Given the description of an element on the screen output the (x, y) to click on. 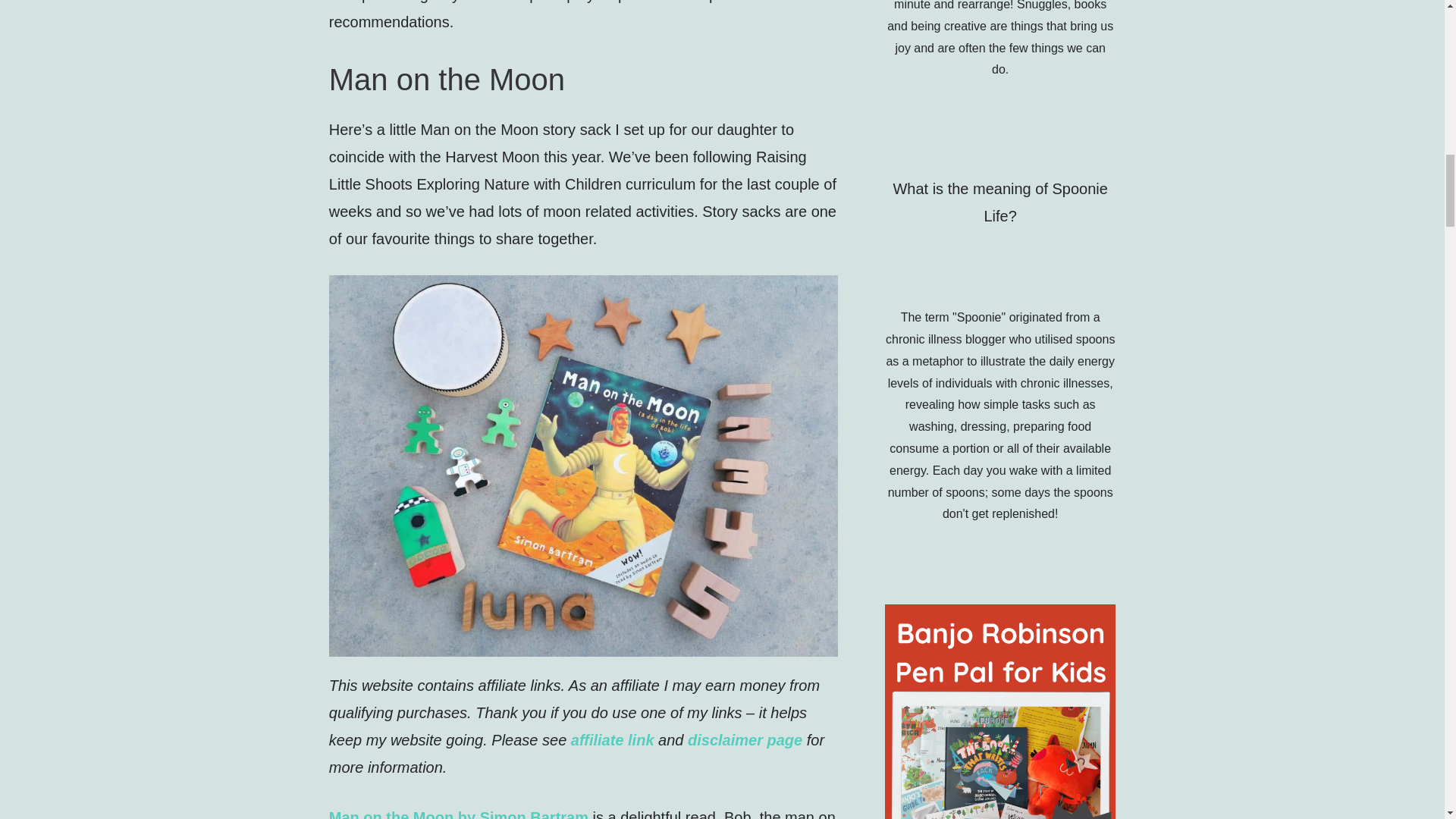
affiliate link (611, 740)
disclaimer page (744, 740)
Man on the Moon by Simon Bartram (460, 814)
